Given the description of an element on the screen output the (x, y) to click on. 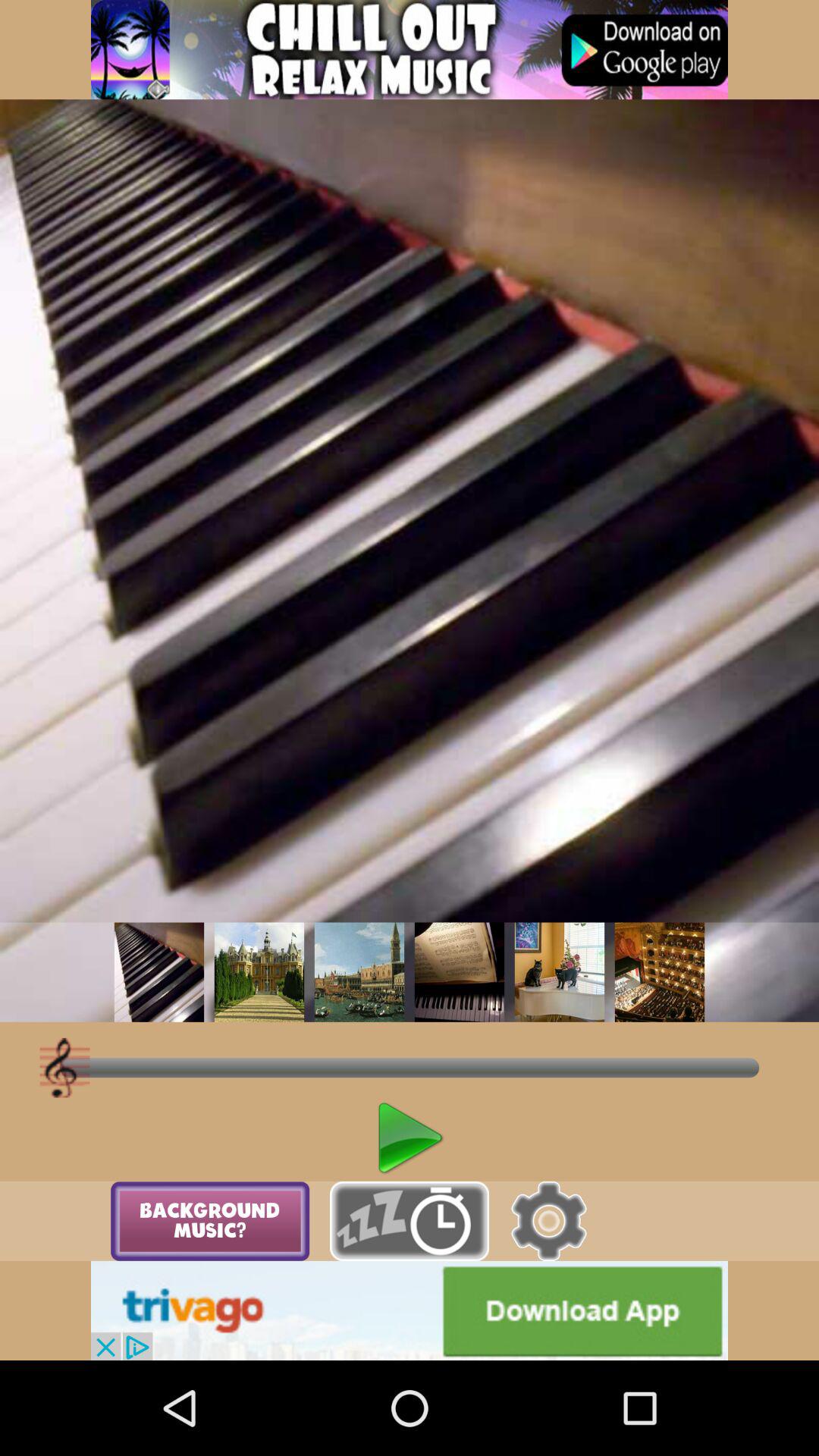
game app option (409, 49)
